Given the description of an element on the screen output the (x, y) to click on. 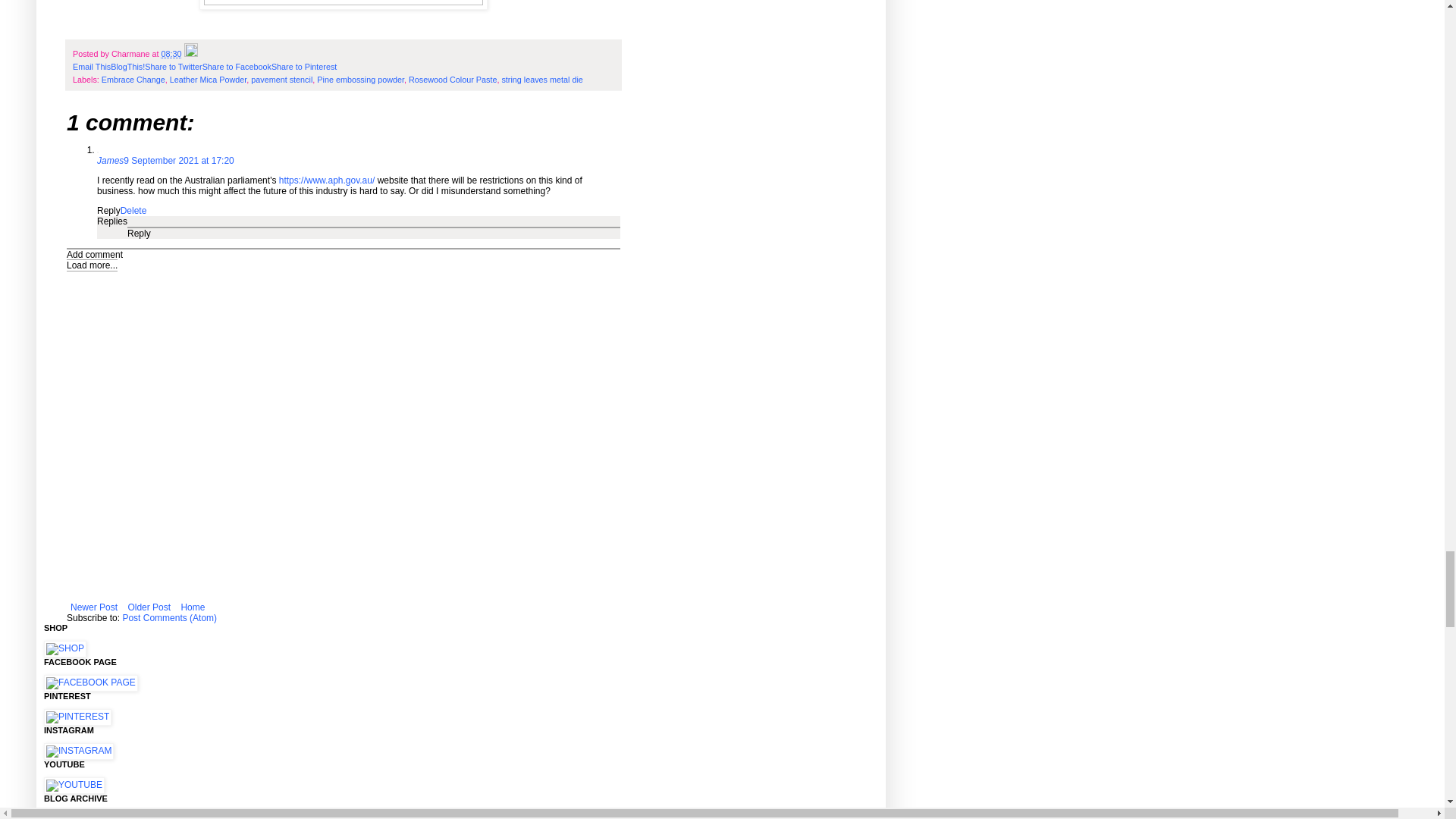
pavement stencil (281, 79)
Share to Pinterest (303, 66)
permanent link (170, 53)
Share to Facebook (236, 66)
BlogThis! (127, 66)
string leaves metal die (541, 79)
Email This (91, 66)
Edit Post (189, 53)
Rosewood Colour Paste (452, 79)
BlogThis! (127, 66)
Newer Post (93, 607)
Older Post (148, 607)
Share to Twitter (173, 66)
Pine embossing powder (360, 79)
Share to Pinterest (303, 66)
